Given the description of an element on the screen output the (x, y) to click on. 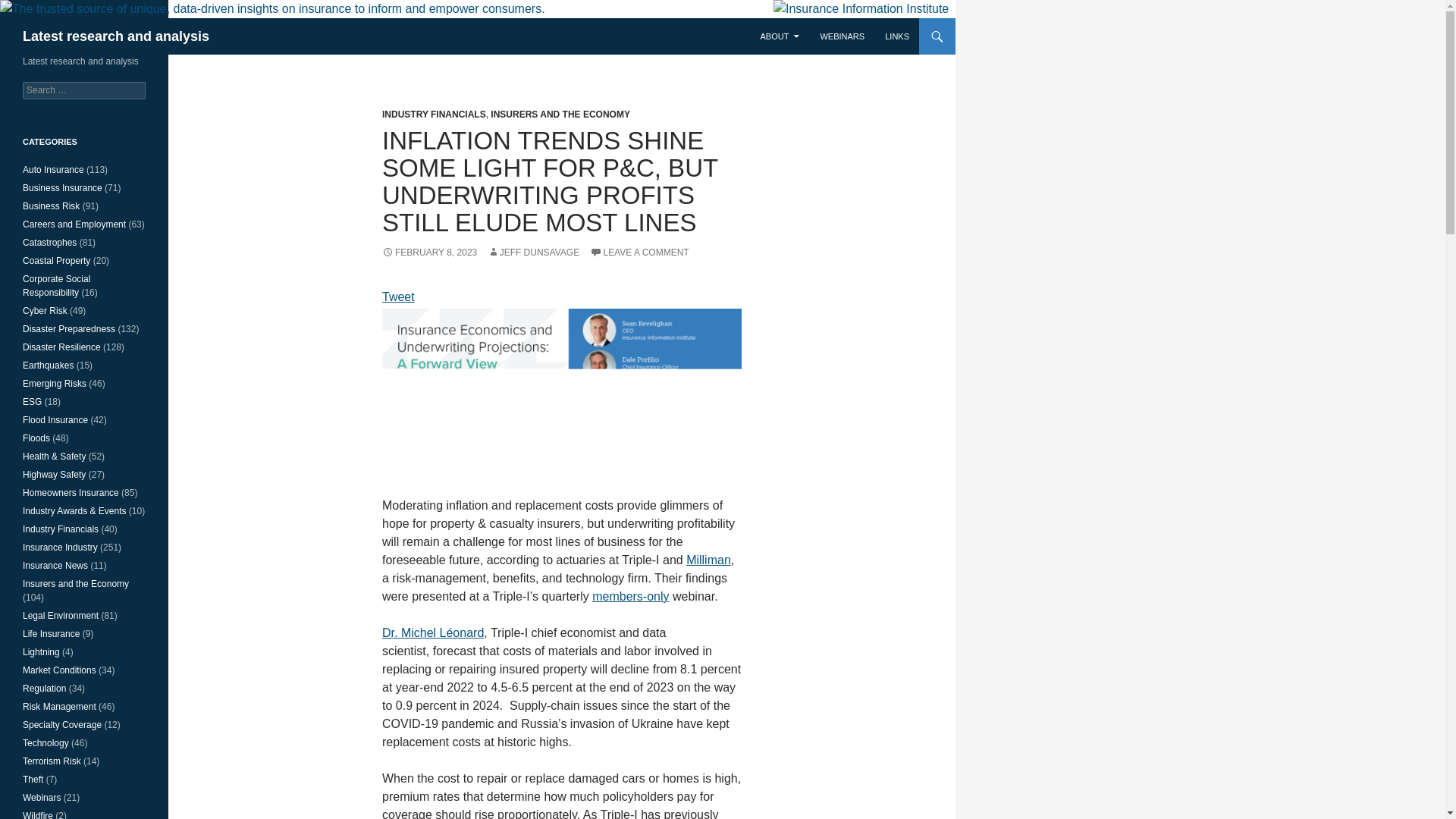
Careers and Employment (74, 224)
Business Insurance (62, 187)
Tweet (397, 296)
JEFF DUNSAVAGE (533, 252)
Coastal Property (56, 260)
INSURERS AND THE ECONOMY (560, 113)
Auto Insurance (53, 169)
Search (30, 8)
Milliman (707, 559)
Latest research and analysis (116, 36)
